Given the description of an element on the screen output the (x, y) to click on. 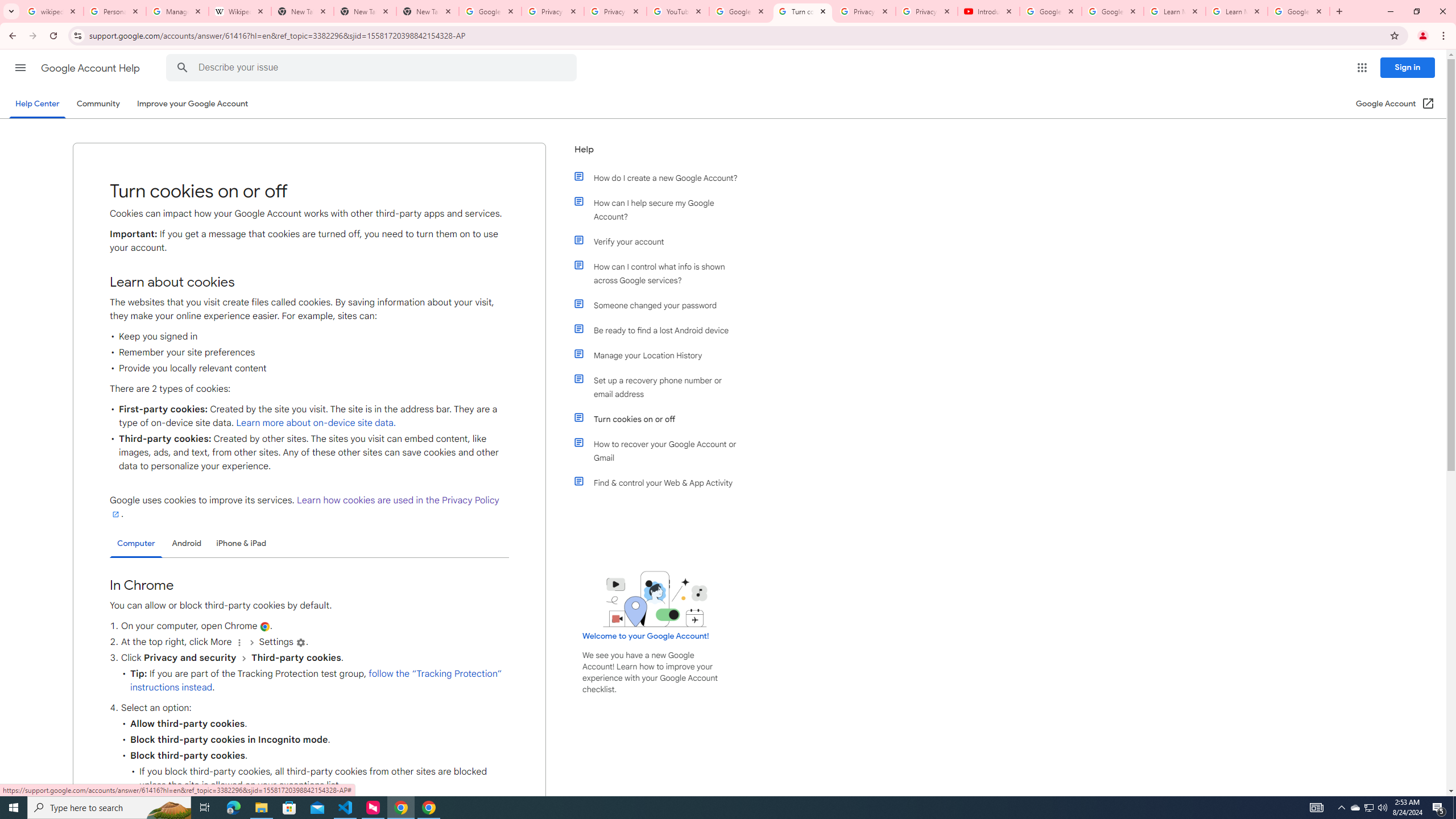
Google Account (1298, 11)
How do I create a new Google Account? (661, 177)
Verify your account (661, 241)
Describe your issue (373, 67)
Turn cookies on or off (661, 419)
Search Help Center (181, 67)
Google Account Help (91, 68)
How can I control what info is shown across Google services? (661, 273)
Set up a recovery phone number or email address (661, 387)
Wikipedia:Edit requests - Wikipedia (239, 11)
